Given the description of an element on the screen output the (x, y) to click on. 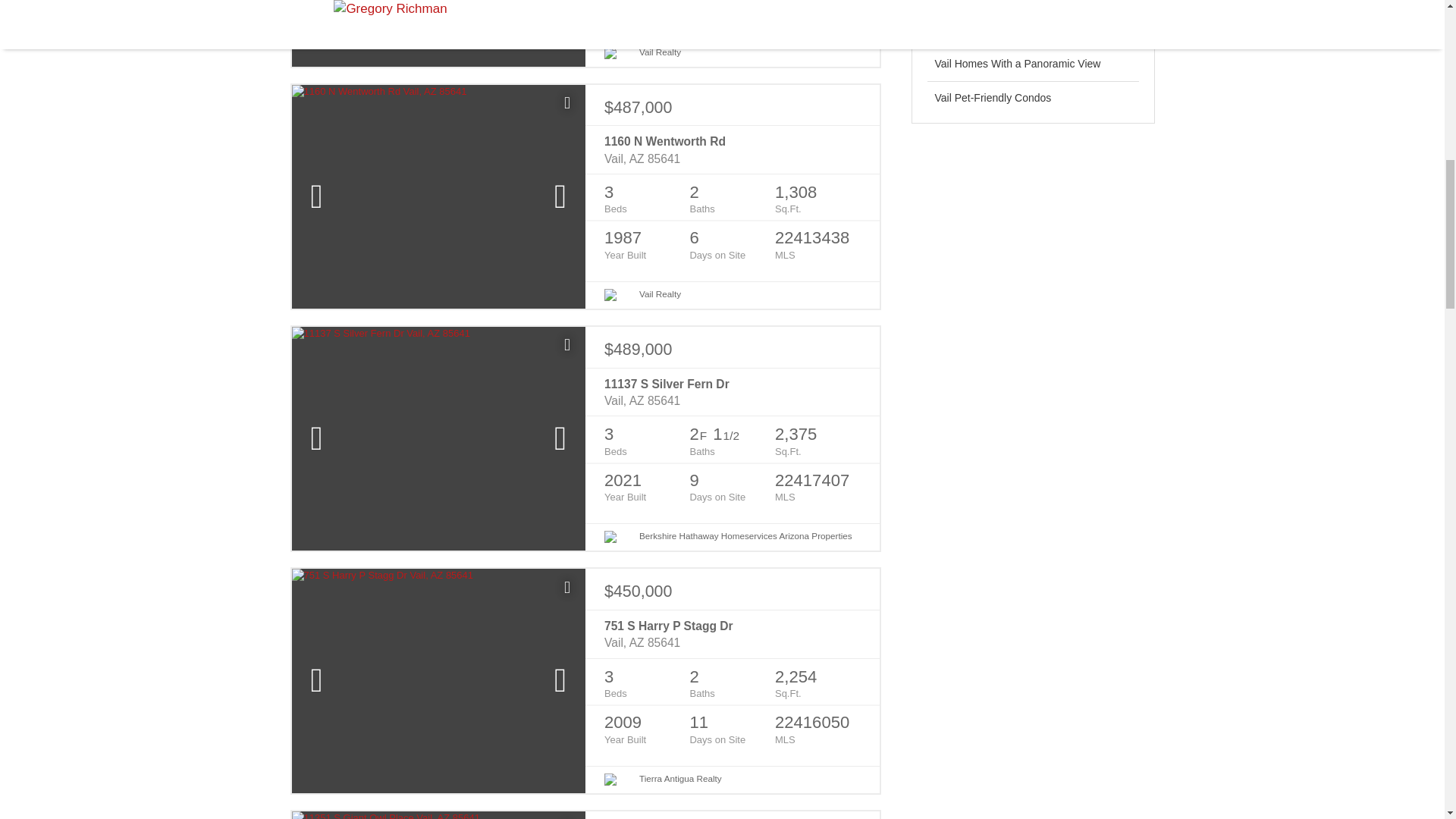
751 S Harry P Stagg Dr Vail,  AZ 85641 (732, 634)
11137 S Silver Fern Dr Vail,  AZ 85641 (732, 392)
1160 N Wentworth Rd Vail,  AZ 85641 (732, 150)
